Given the description of an element on the screen output the (x, y) to click on. 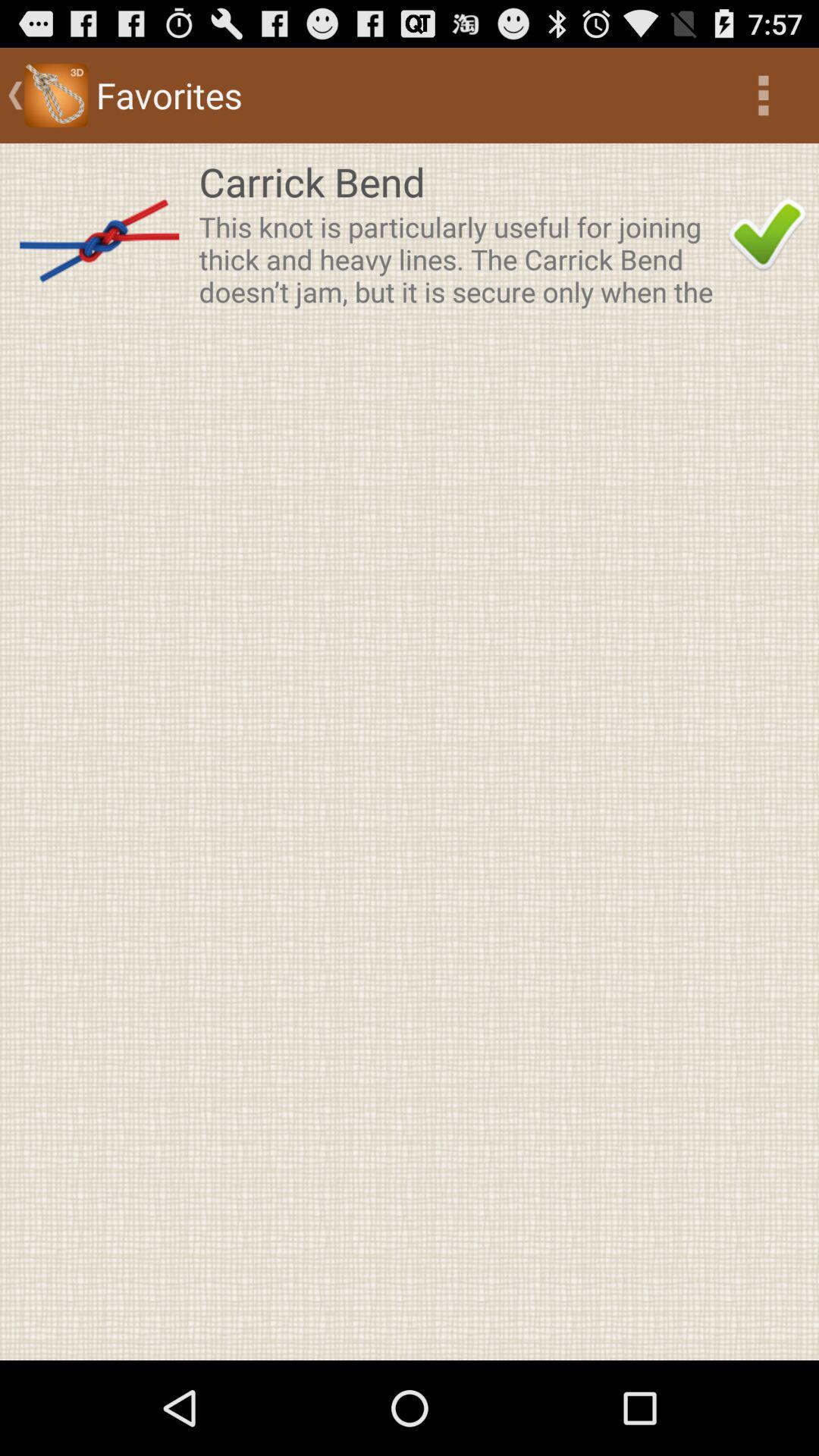
flip until the this knot is icon (459, 258)
